Given the description of an element on the screen output the (x, y) to click on. 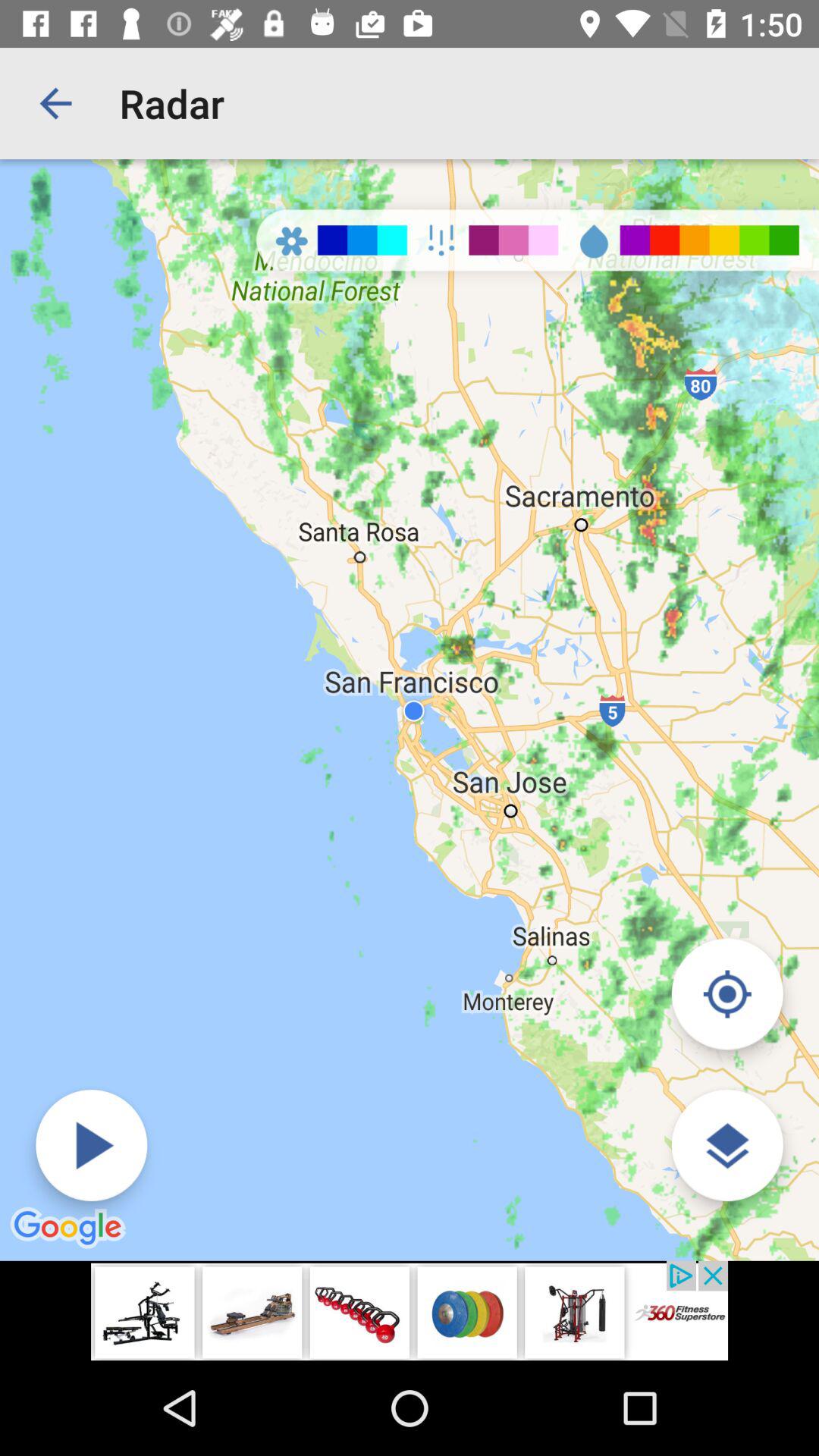
go to the advertisement page (409, 1310)
